Given the description of an element on the screen output the (x, y) to click on. 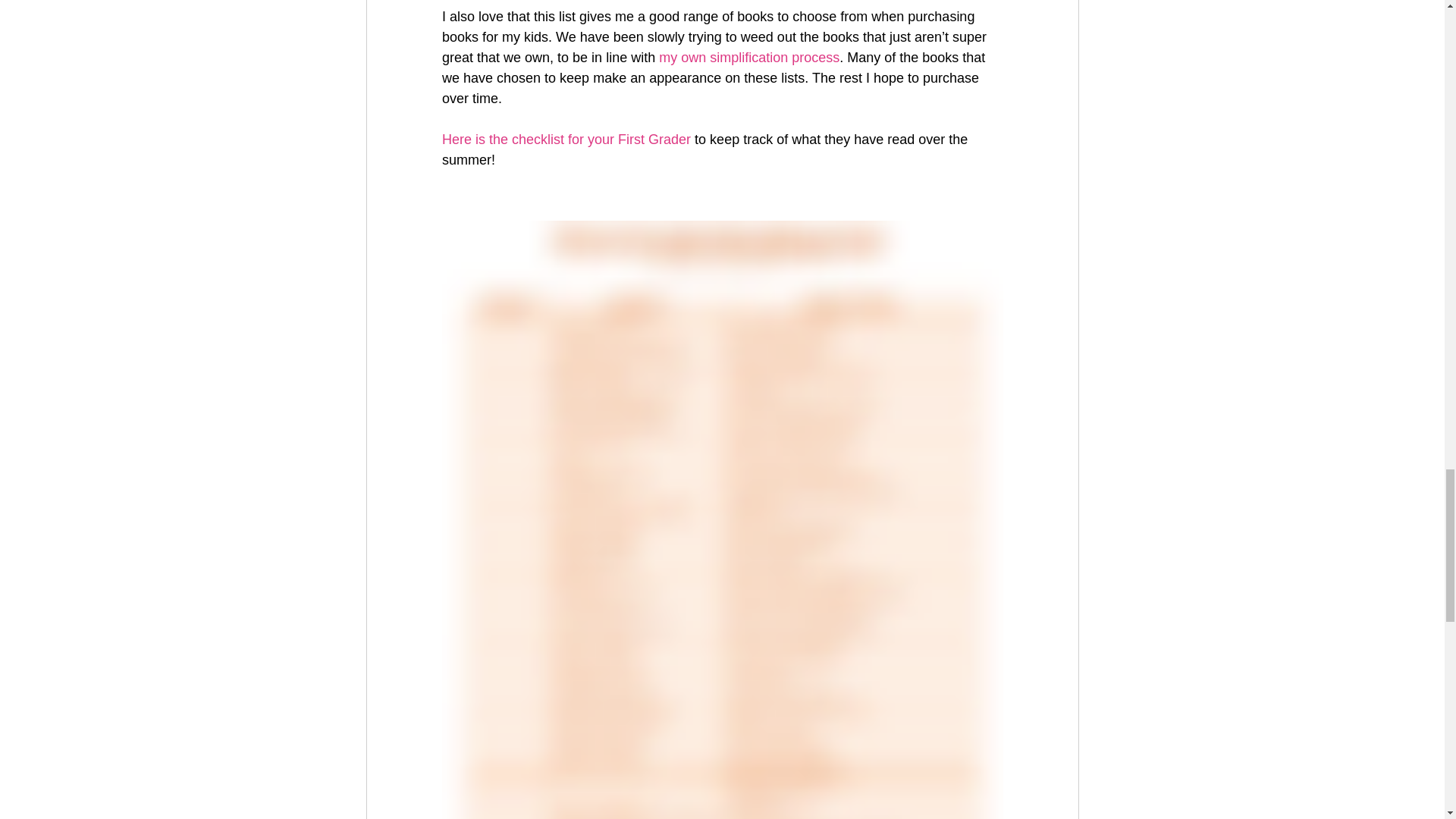
Here is the checklist for your First Grader (565, 139)
my own simplification process (749, 57)
